Given the description of an element on the screen output the (x, y) to click on. 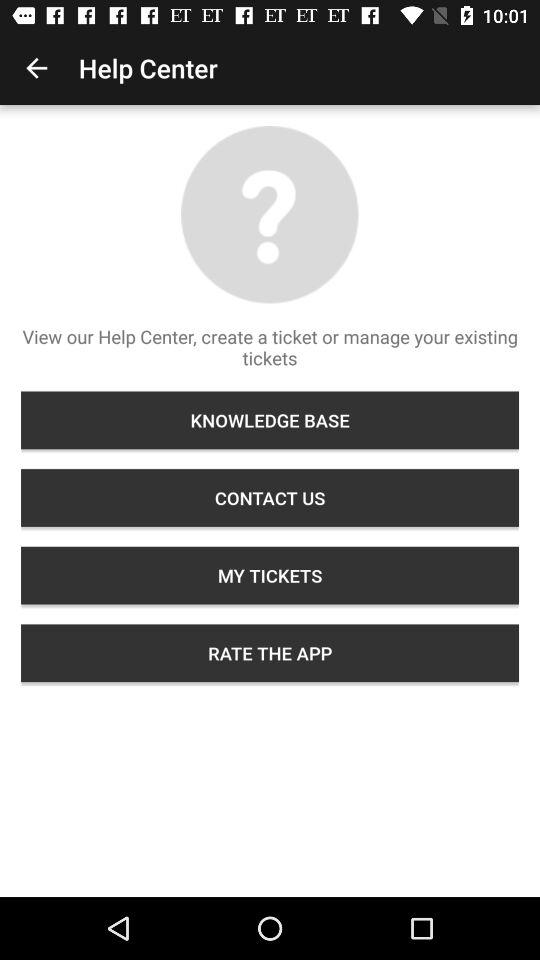
open the my tickets (270, 575)
